Given the description of an element on the screen output the (x, y) to click on. 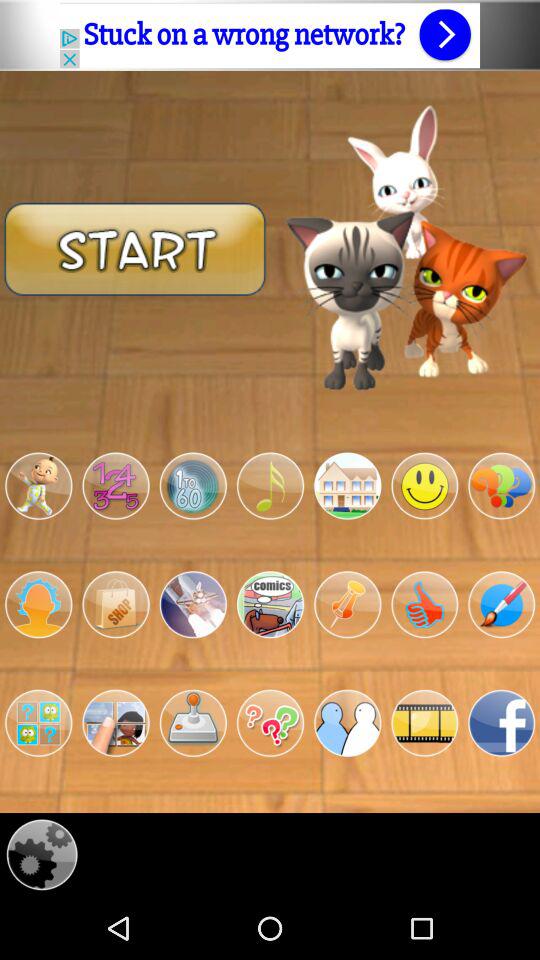
enter website (270, 35)
